Given the description of an element on the screen output the (x, y) to click on. 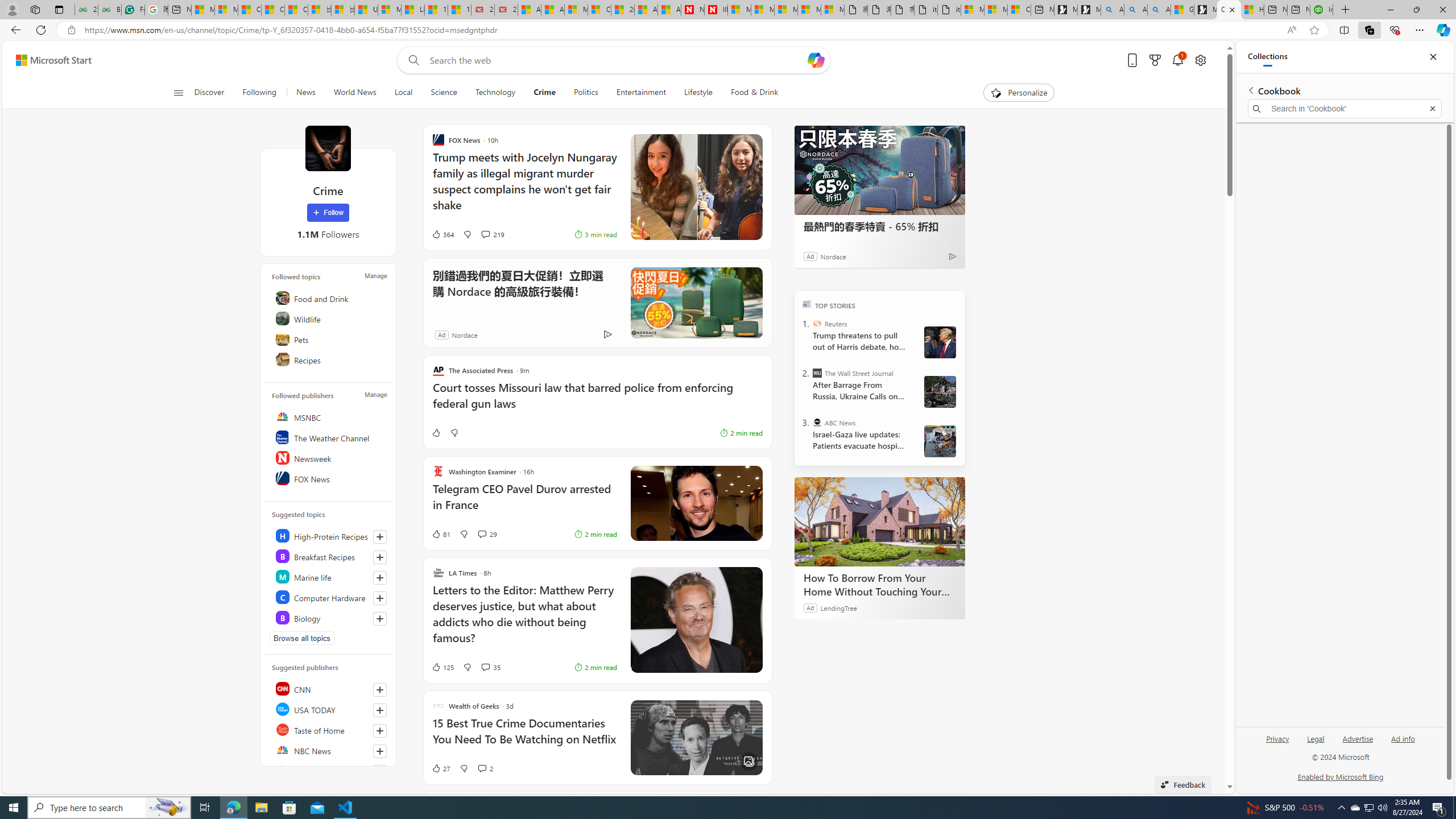
21 Movies That Outdid the Books They Were Based On (505, 9)
